Given the description of an element on the screen output the (x, y) to click on. 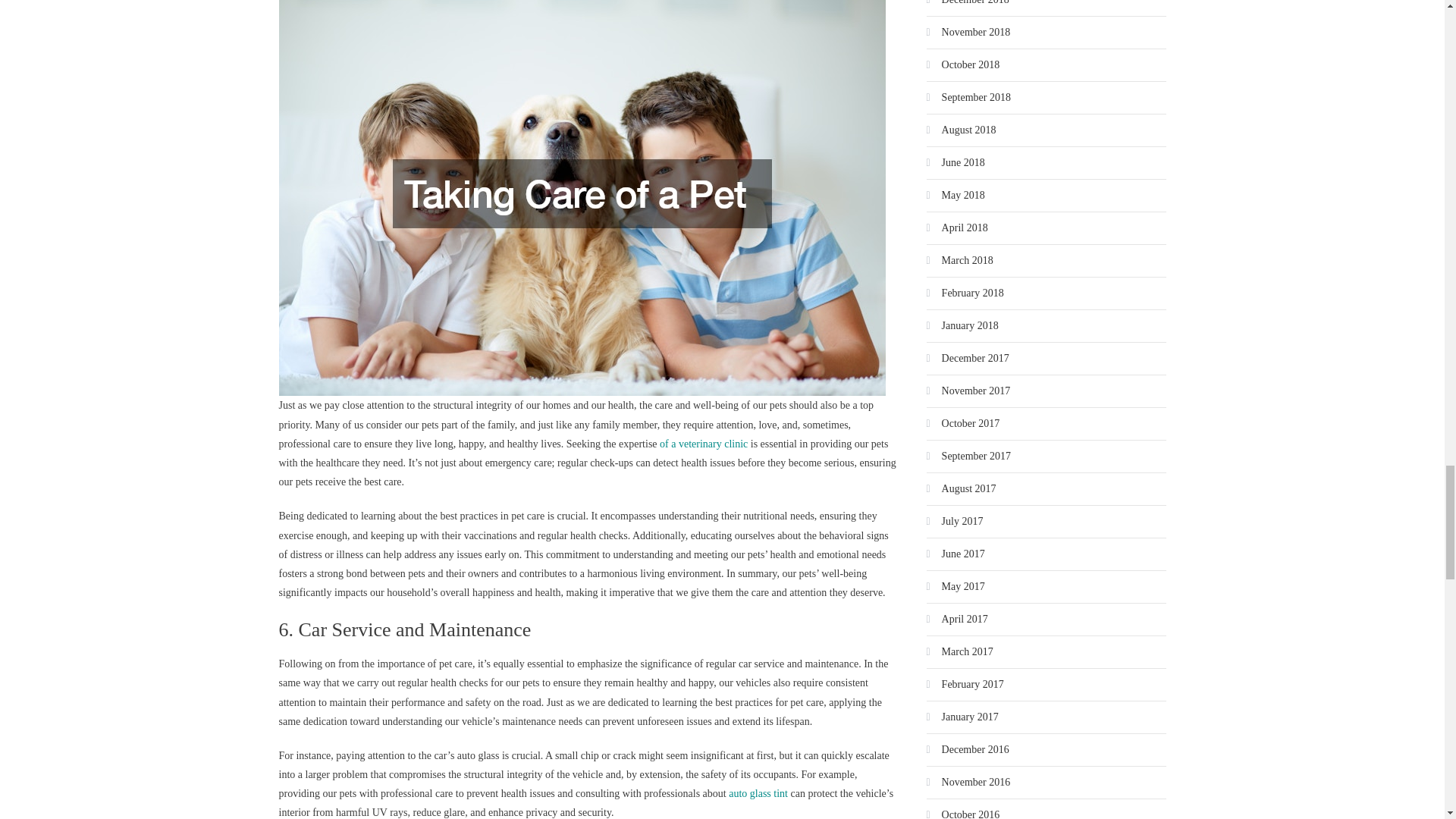
auto glass tint (758, 793)
of a veterinary clinic (703, 443)
